Given the description of an element on the screen output the (x, y) to click on. 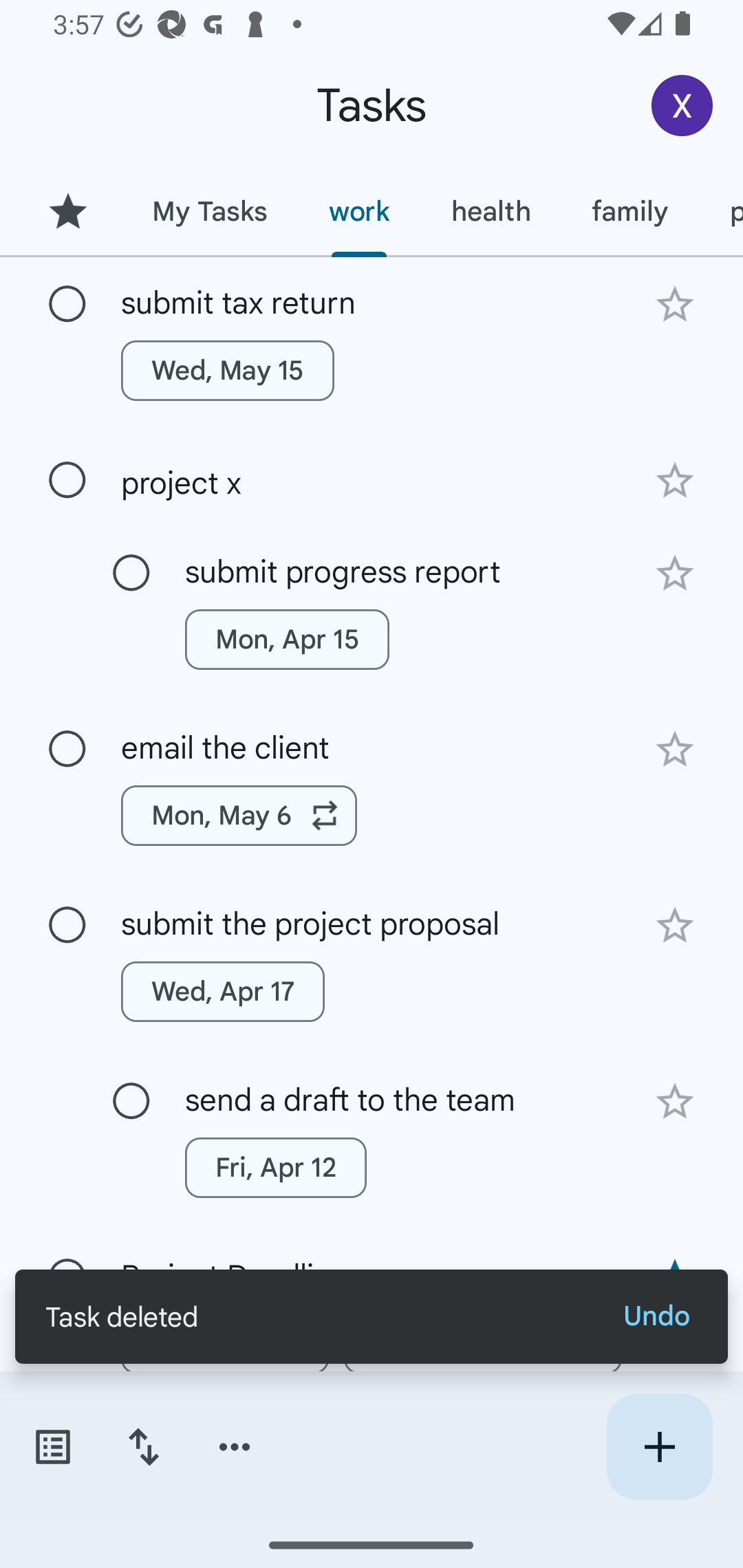
Starred (67, 211)
My Tasks (209, 211)
health (490, 211)
family (629, 211)
Add star (674, 303)
Mark as complete (67, 304)
Wed, May 15 (227, 369)
Add star (674, 480)
Mark as complete (67, 480)
Add star (674, 573)
Mark as complete (131, 572)
Mon, Apr 15 (287, 639)
Add star (674, 749)
Mark as complete (67, 750)
Mon, May 6 (239, 814)
Add star (674, 924)
Mark as complete (67, 925)
Wed, Apr 17 (222, 991)
Add star (674, 1101)
Mark as complete (131, 1101)
Fri, Apr 12 (276, 1167)
Undo (656, 1316)
Switch task lists (52, 1447)
Create new task (659, 1446)
Change sort order (143, 1446)
More options (234, 1446)
